Given the description of an element on the screen output the (x, y) to click on. 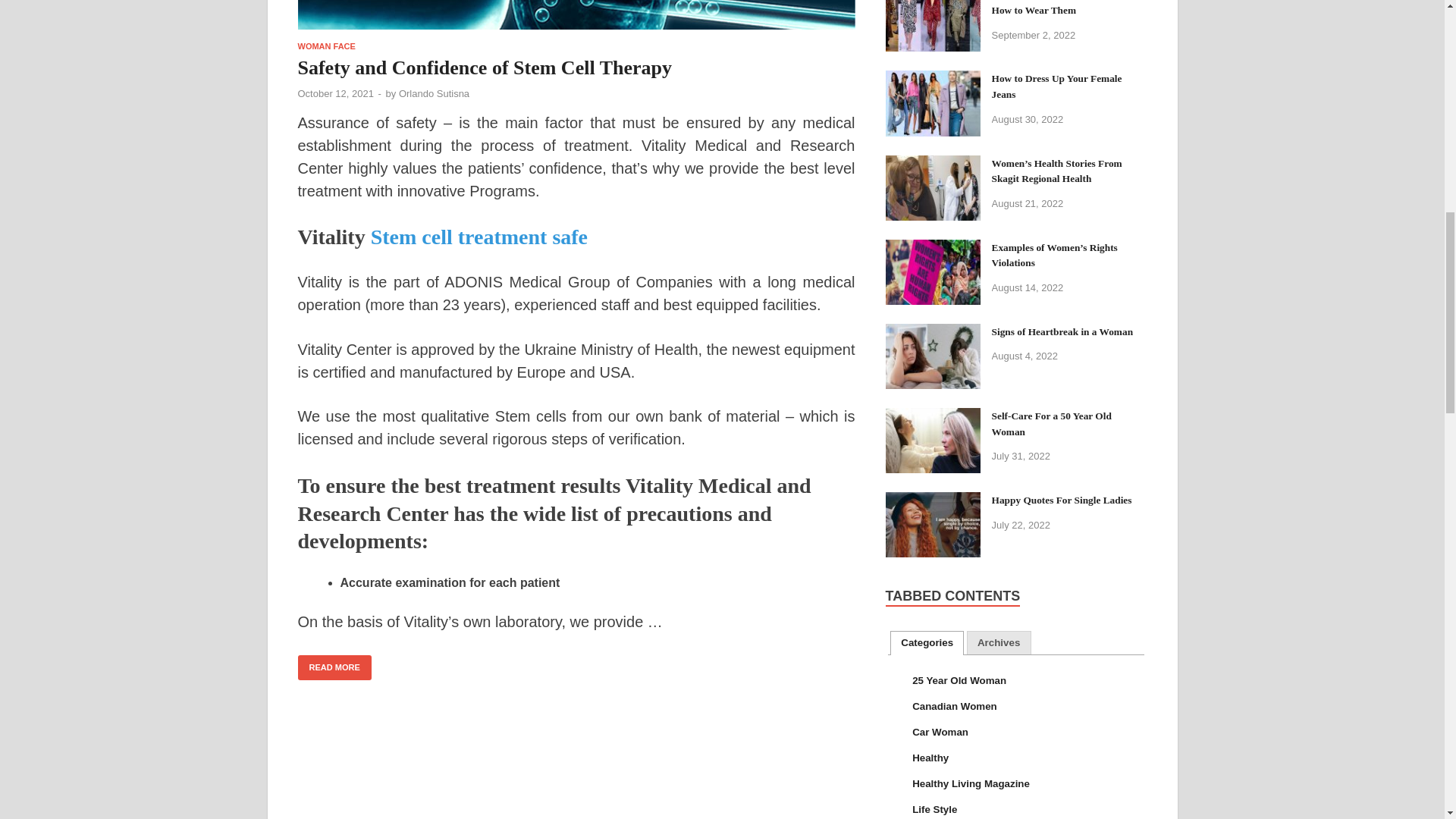
Happy Quotes For Single Ladies (932, 501)
How to Dress Up Your Female Jeans (932, 79)
Self-Care For a 50 Year Old Woman (932, 417)
3 Patterns for This Autumn and How to Wear Them (932, 0)
Signs of Heartbreak in a Woman (932, 333)
Safety and Confidence of Stem Cell Therapy (575, 14)
